Given the description of an element on the screen output the (x, y) to click on. 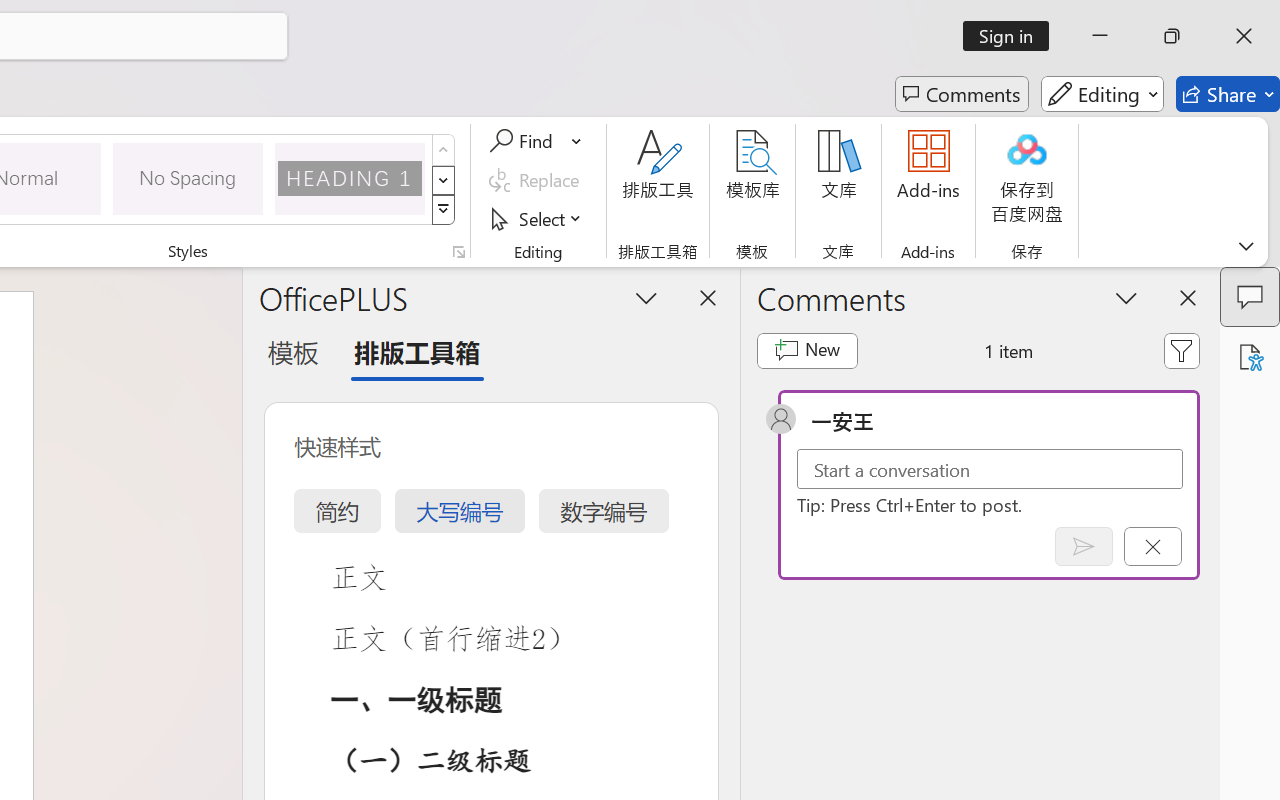
Cancel (1152, 546)
